Given the description of an element on the screen output the (x, y) to click on. 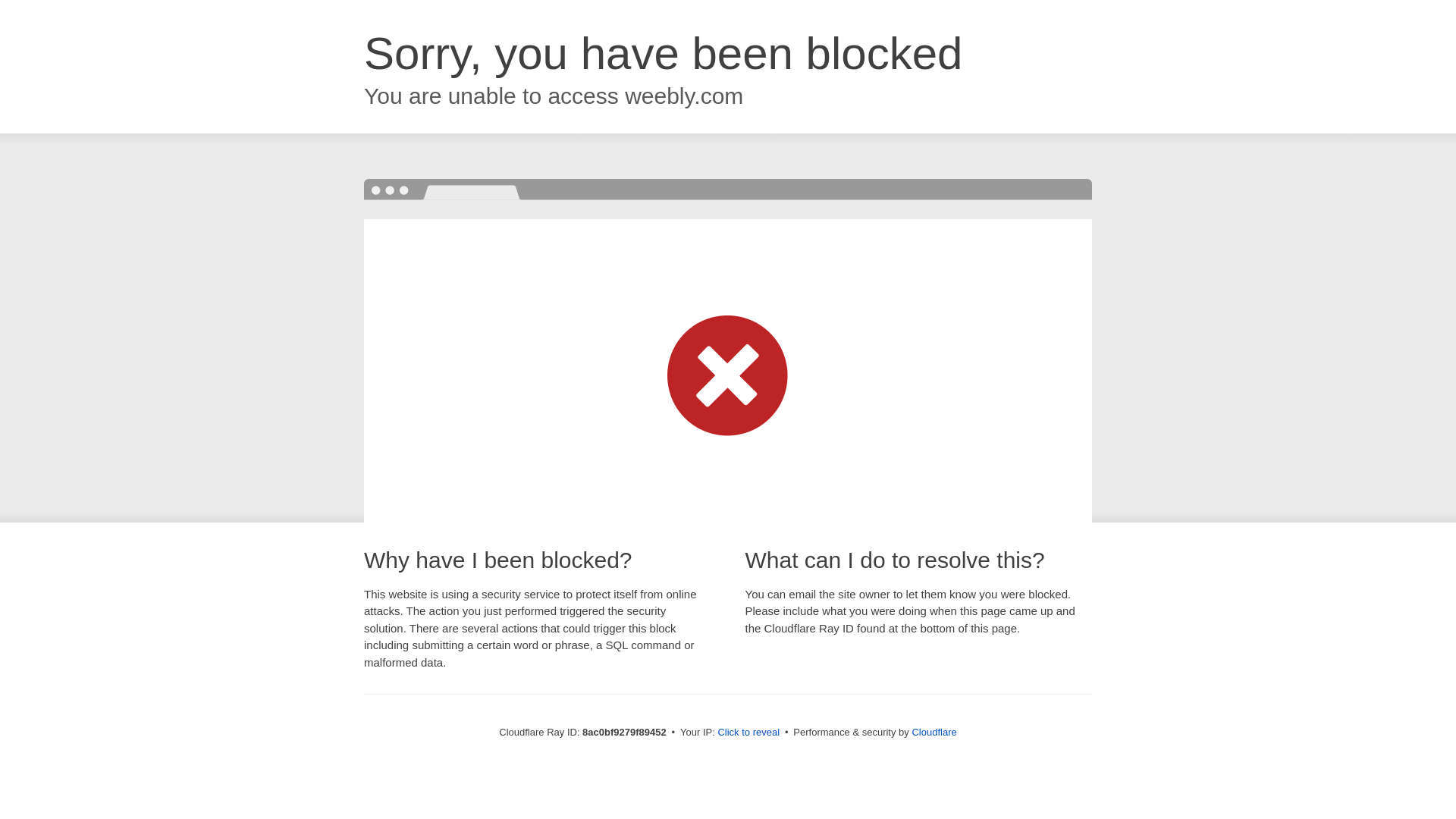
Cloudflare (933, 731)
Click to reveal (747, 732)
